Given the description of an element on the screen output the (x, y) to click on. 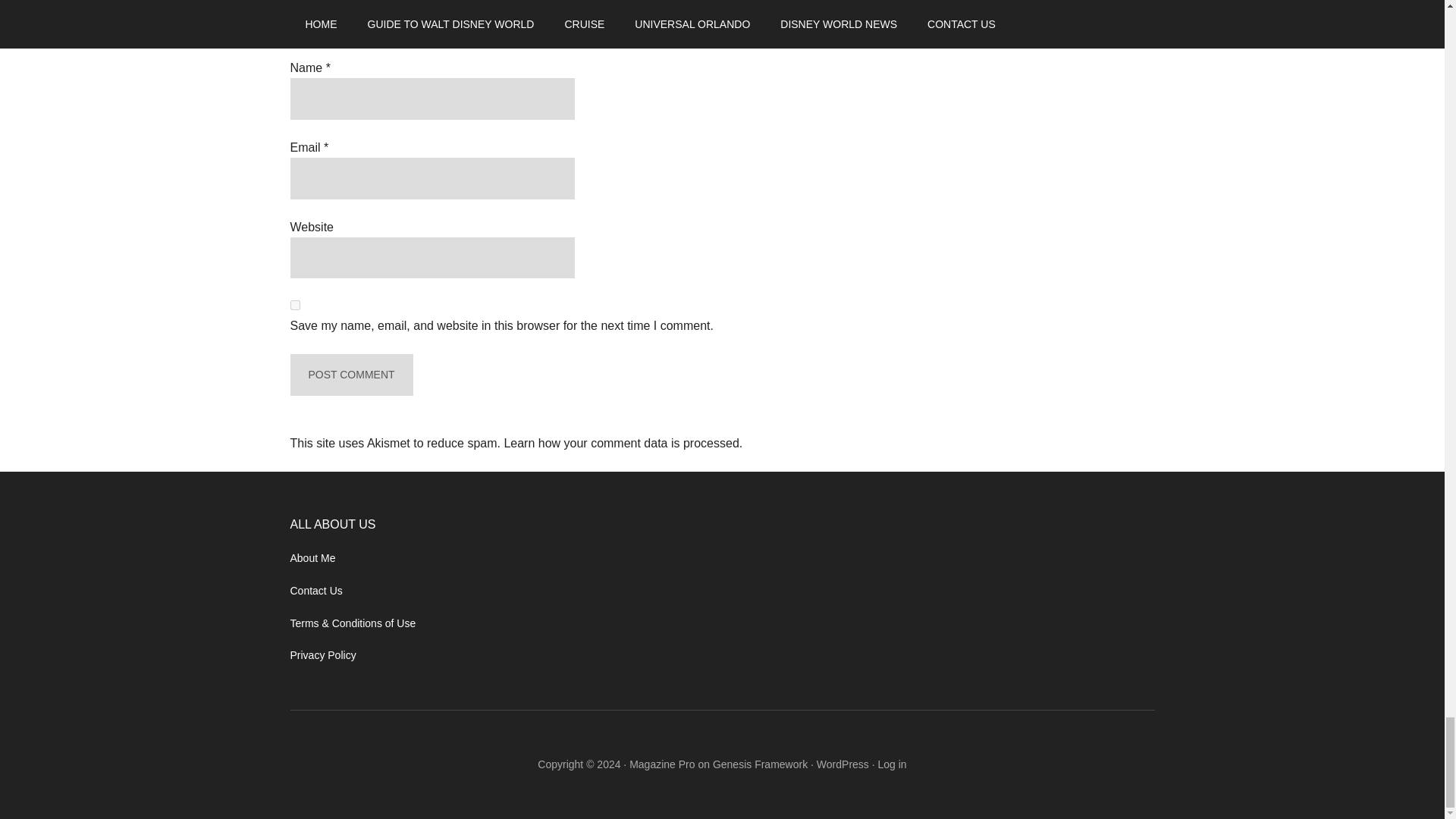
Post Comment (350, 374)
yes (294, 305)
